Given the description of an element on the screen output the (x, y) to click on. 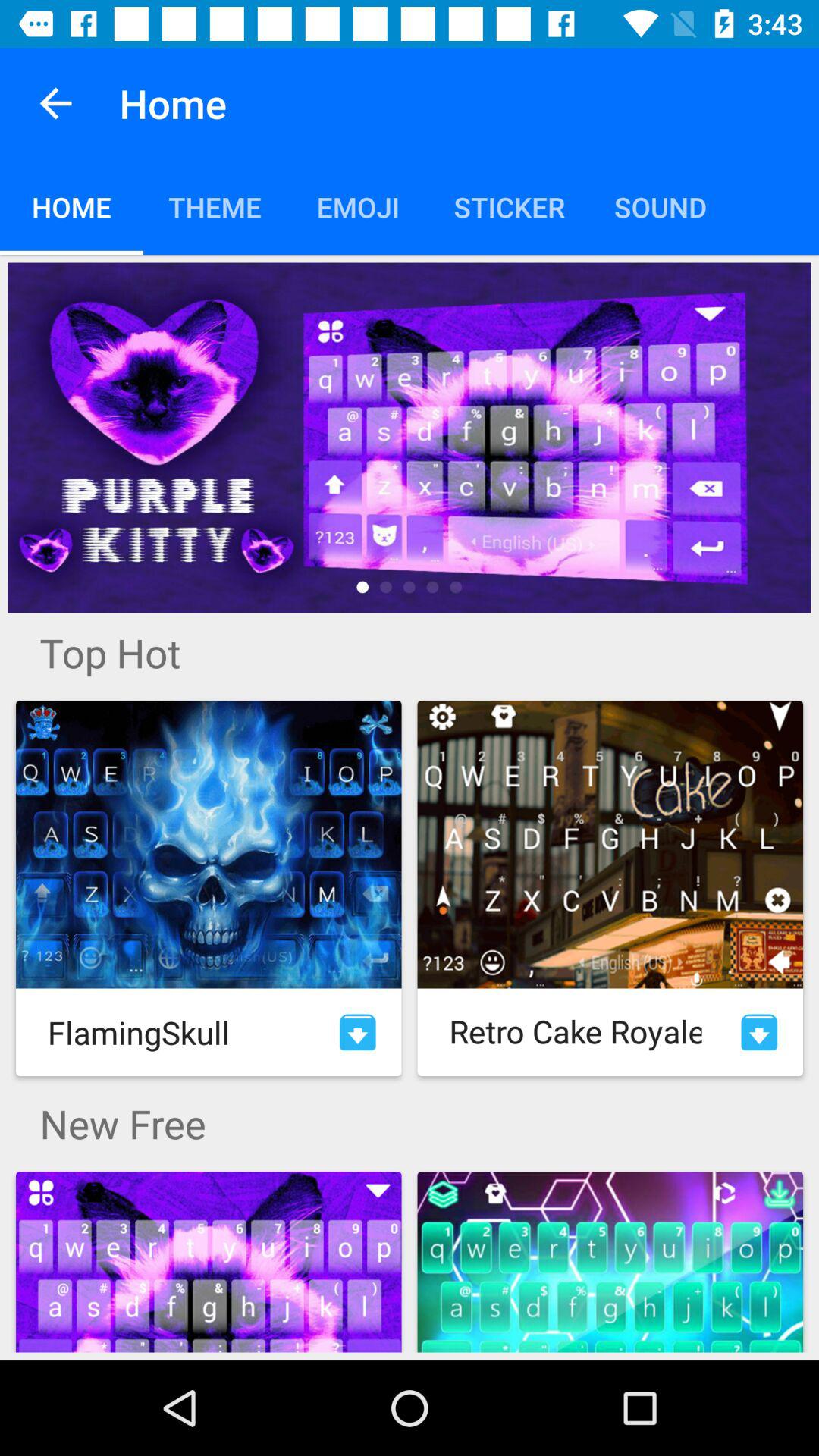
click icon above top hot (409, 437)
